Given the description of an element on the screen output the (x, y) to click on. 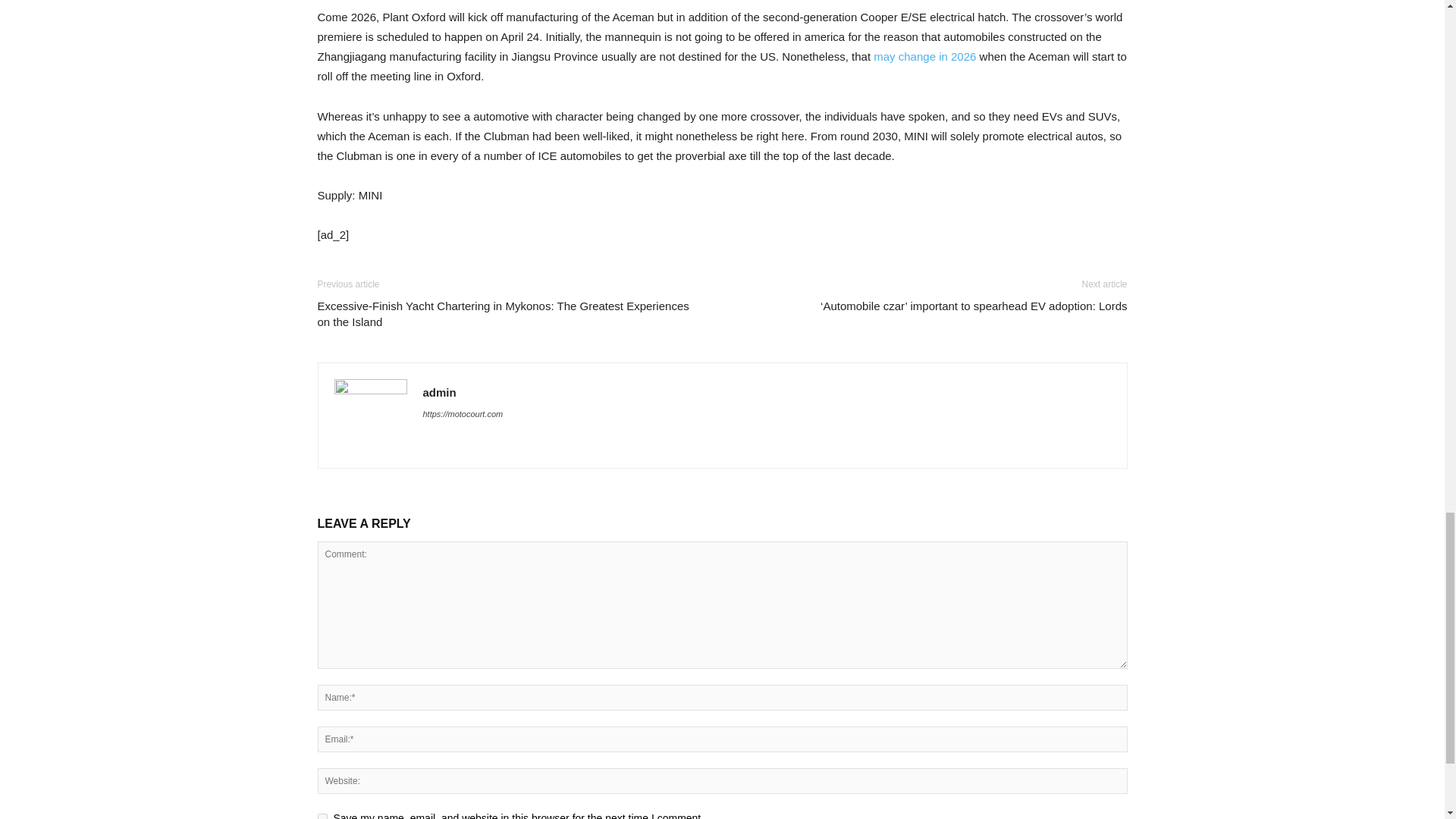
yes (321, 816)
admin (440, 391)
may change in 2026 (924, 56)
